Given the description of an element on the screen output the (x, y) to click on. 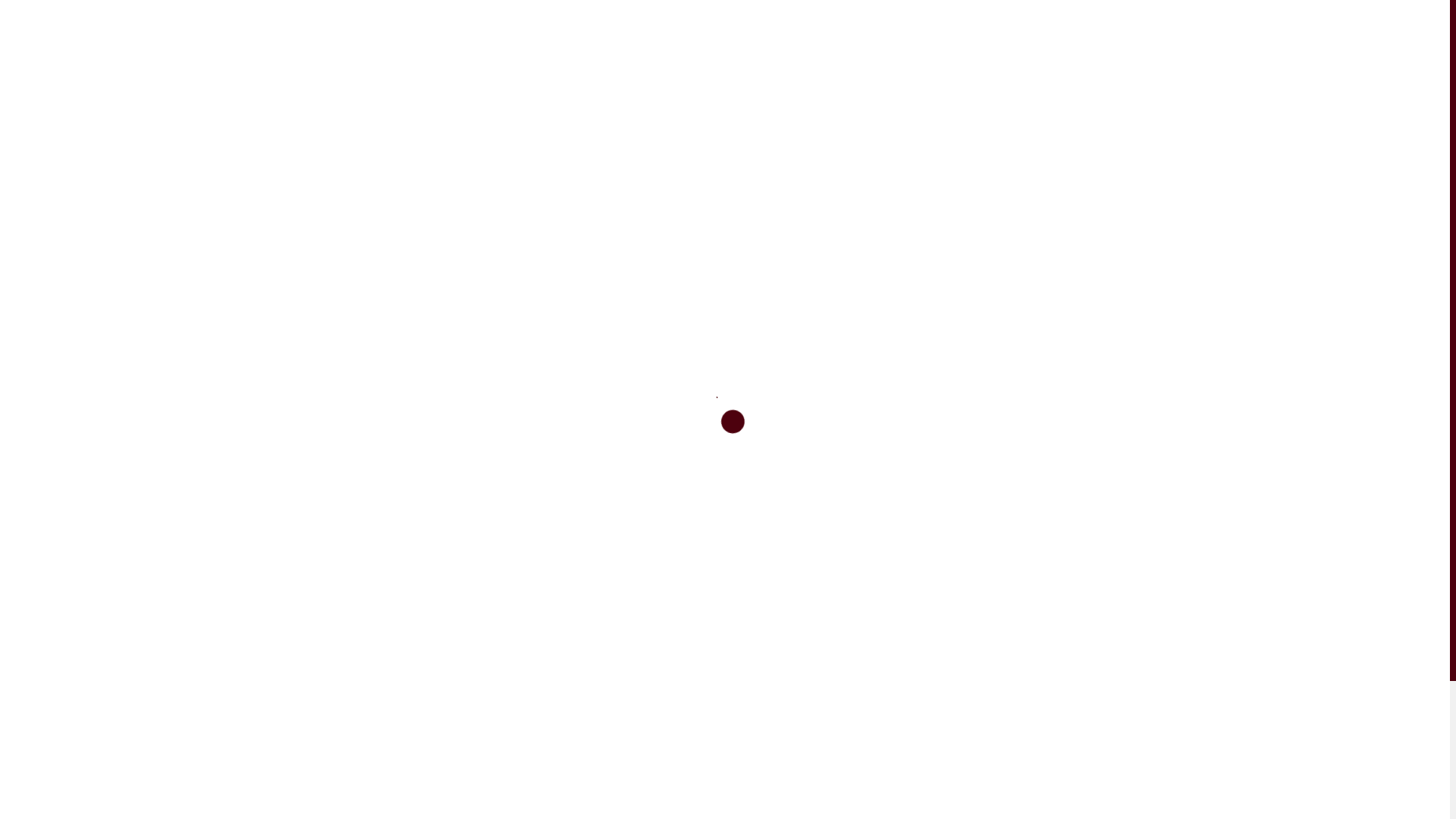
cudounia@gmail.com Element type: text (247, 784)
+375 (33) 623-26-16 Element type: text (330, 753)
